Given the description of an element on the screen output the (x, y) to click on. 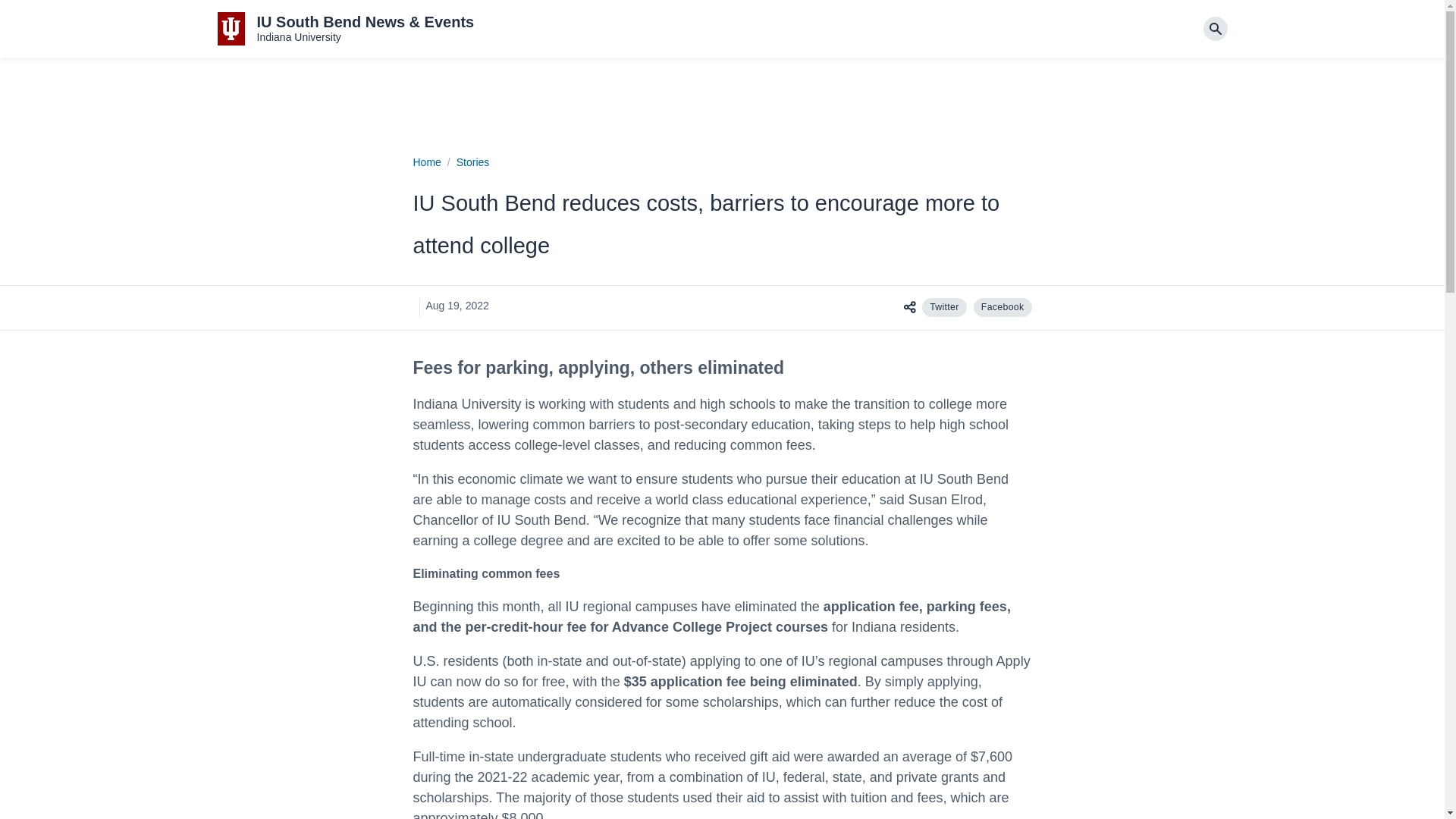
Facebook (1003, 307)
Home (426, 162)
Stories (473, 162)
Hub icon (908, 306)
Twitter (943, 307)
Search (1214, 28)
